Given the description of an element on the screen output the (x, y) to click on. 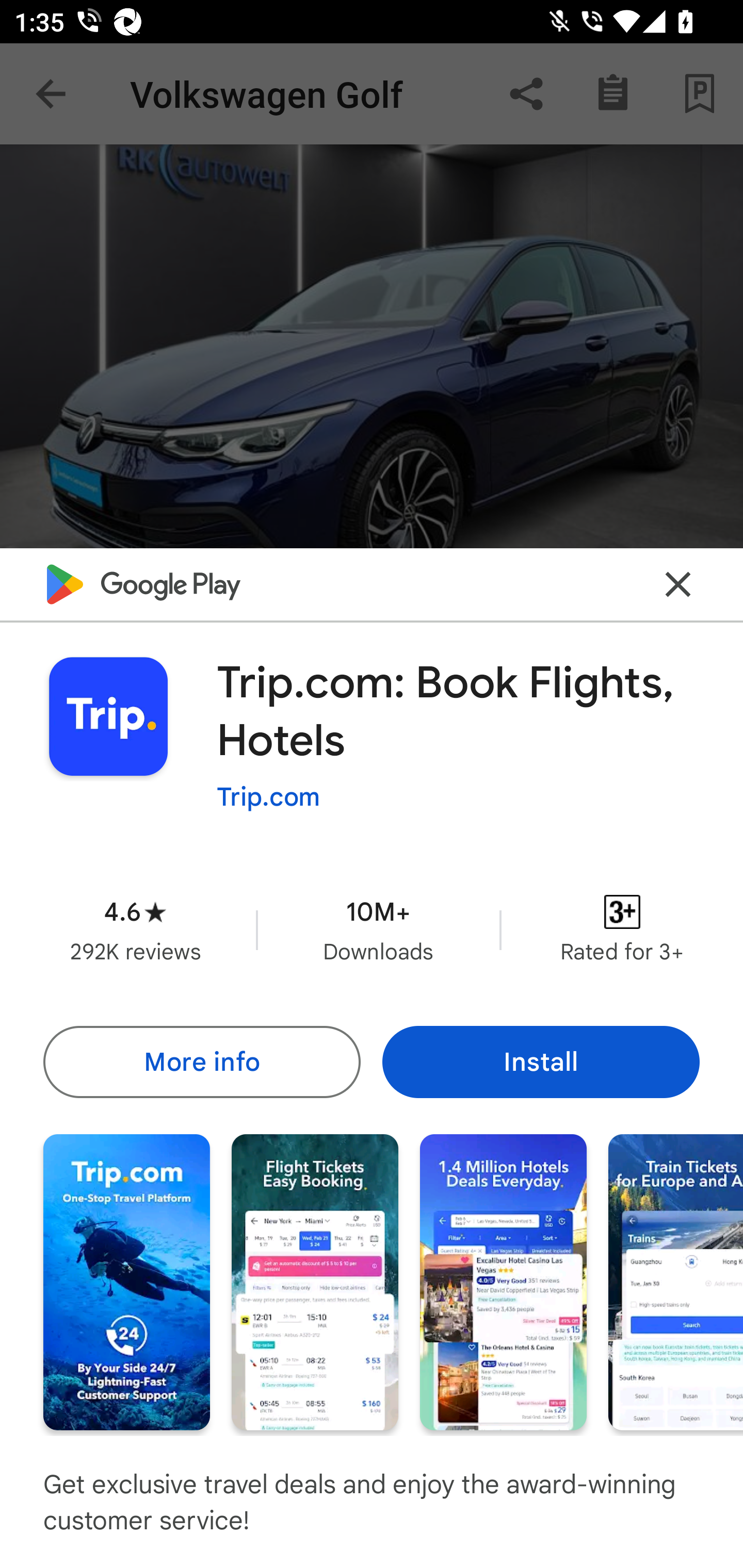
Close (677, 584)
Trip.com (268, 796)
More info (201, 1061)
Install (540, 1061)
Screenshot "1" of "8" (126, 1281)
Screenshot "2" of "8" (314, 1281)
Screenshot "3" of "8" (502, 1281)
Screenshot "4" of "8" (675, 1281)
